Given the description of an element on the screen output the (x, y) to click on. 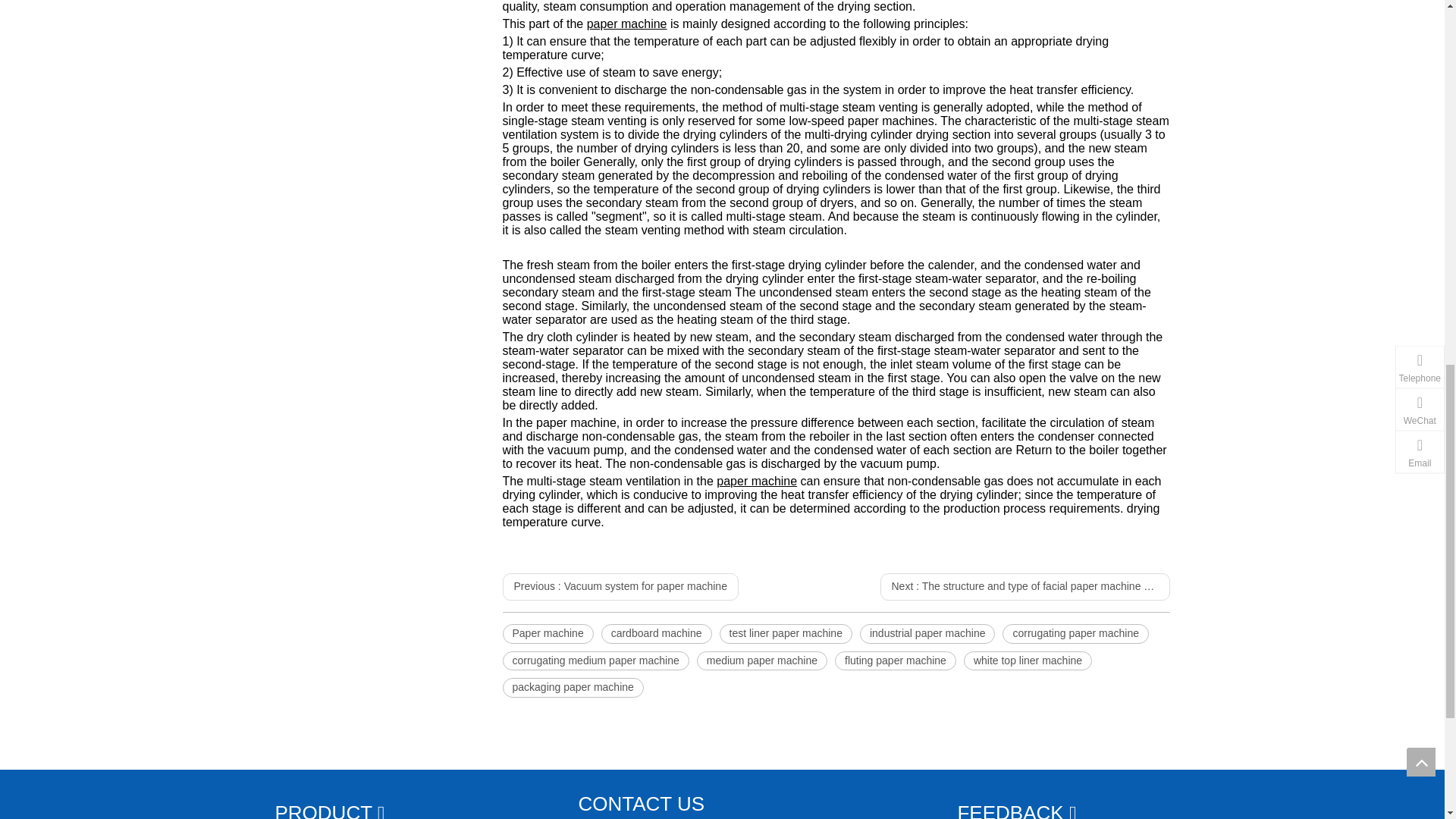
cardboard machine (656, 633)
corrugating paper machine (1075, 633)
paper machine (626, 23)
cardboard machine (656, 633)
fluting paper machine (895, 660)
test liner paper machine (785, 633)
paper machine (756, 481)
paper machine (756, 481)
test liner paper machine (785, 633)
